Given the description of an element on the screen output the (x, y) to click on. 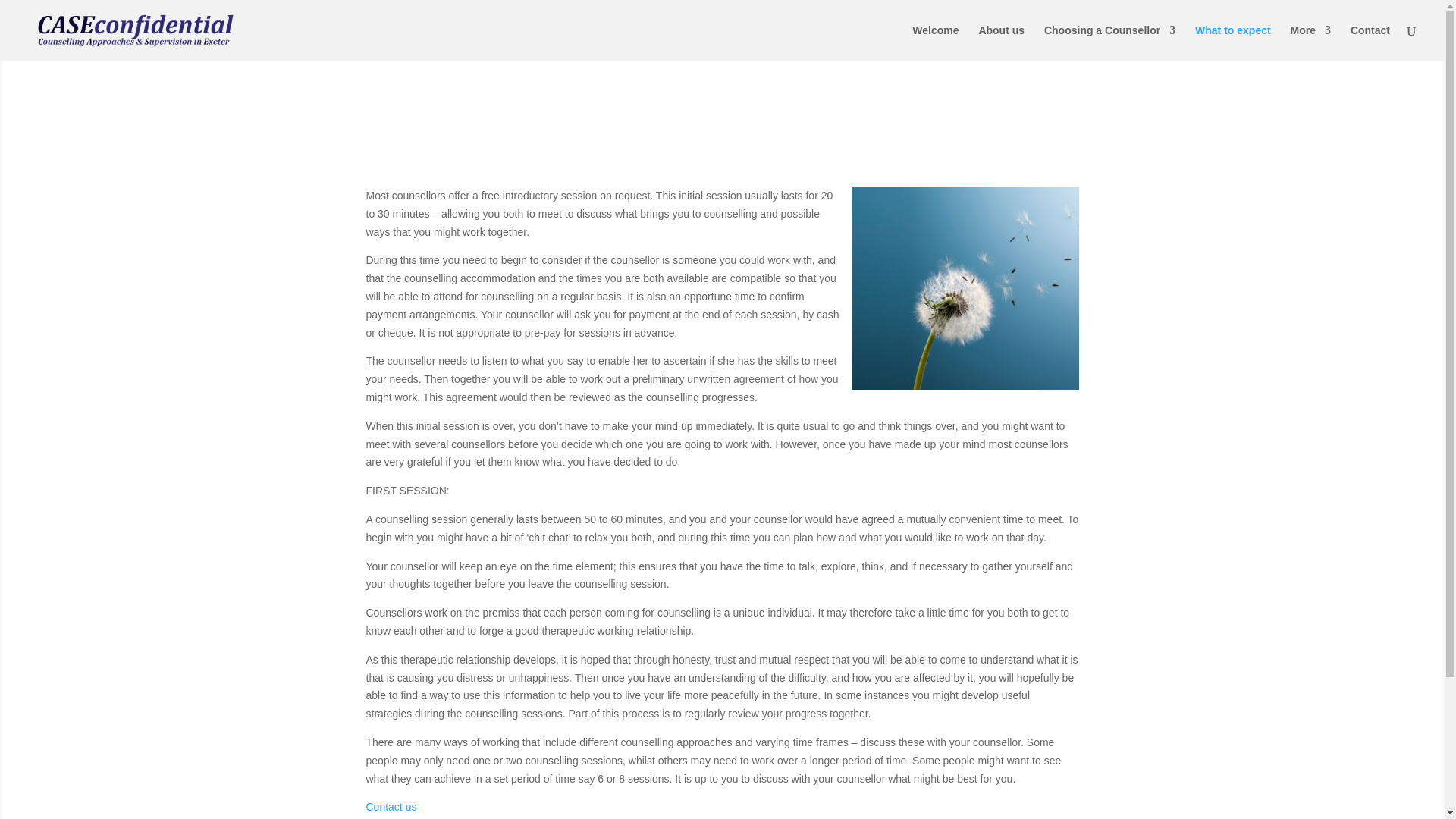
Contact us (390, 806)
Welcome (935, 42)
Choosing a Counsellor (1108, 42)
Contact (1370, 42)
What to expect (1233, 42)
About us (1001, 42)
More (1310, 42)
